Given the description of an element on the screen output the (x, y) to click on. 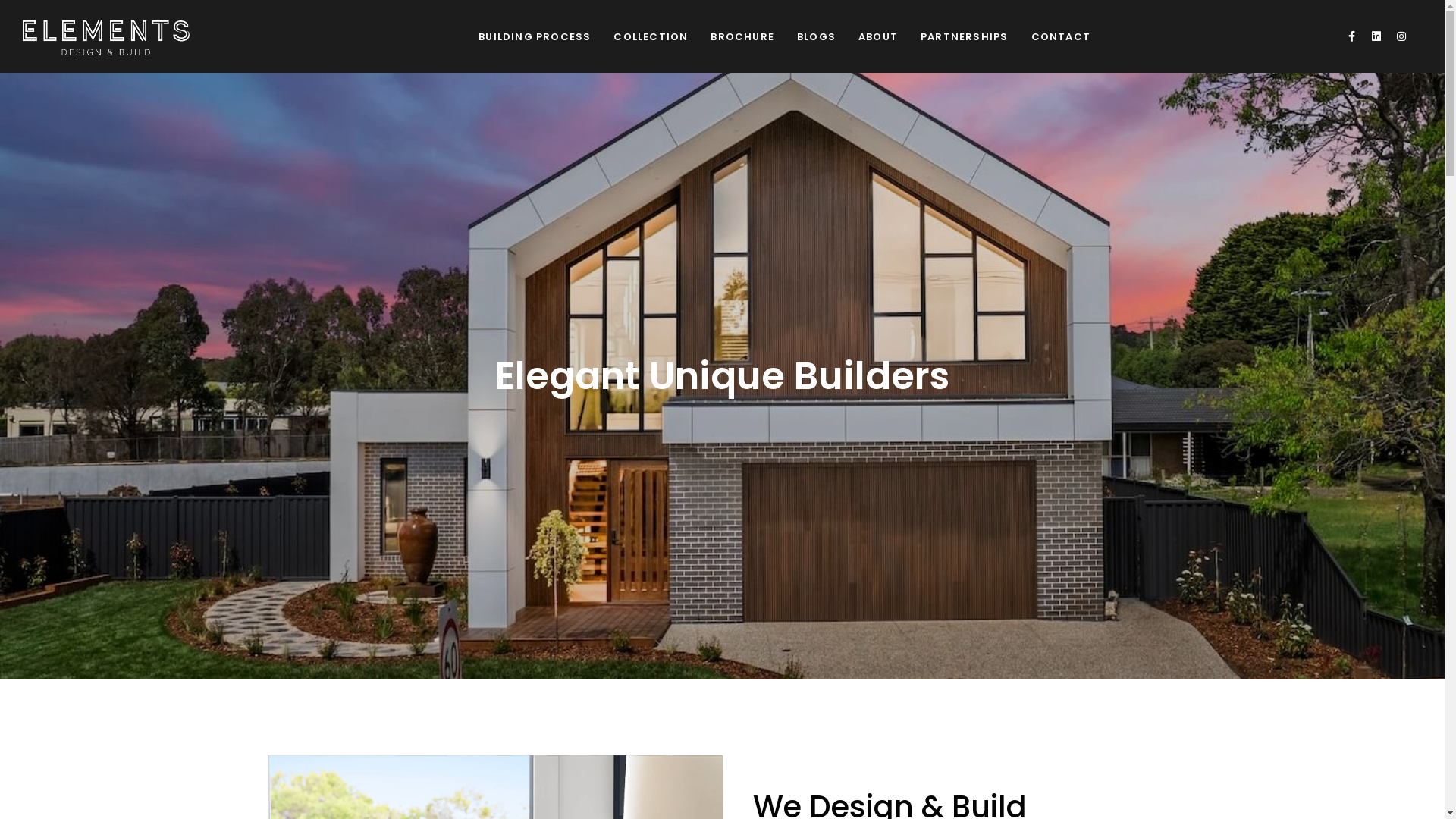
BUILDING PROCESS Element type: text (534, 36)
COLLECTION Element type: text (650, 36)
BLOGS Element type: text (816, 36)
PARTNERSHIPS Element type: text (964, 36)
BROCHURE Element type: text (742, 36)
CONTACT Element type: text (1060, 36)
ABOUT Element type: text (878, 36)
